Given the description of an element on the screen output the (x, y) to click on. 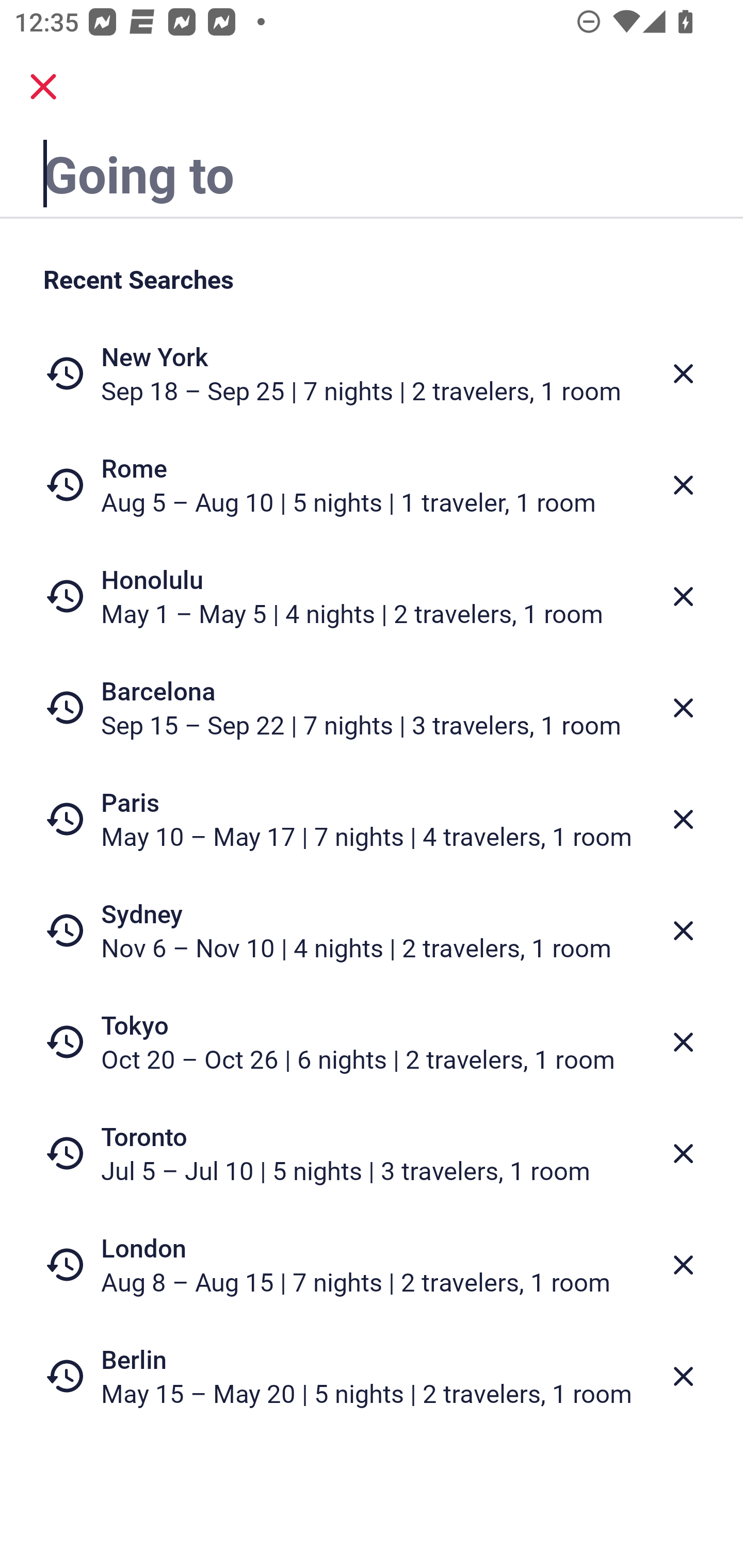
close. (43, 86)
Delete from recent searches (683, 373)
Delete from recent searches (683, 485)
Delete from recent searches (683, 596)
Delete from recent searches (683, 707)
Delete from recent searches (683, 819)
Delete from recent searches (683, 930)
Delete from recent searches (683, 1041)
Delete from recent searches (683, 1153)
Delete from recent searches (683, 1265)
Delete from recent searches (683, 1376)
